Given the description of an element on the screen output the (x, y) to click on. 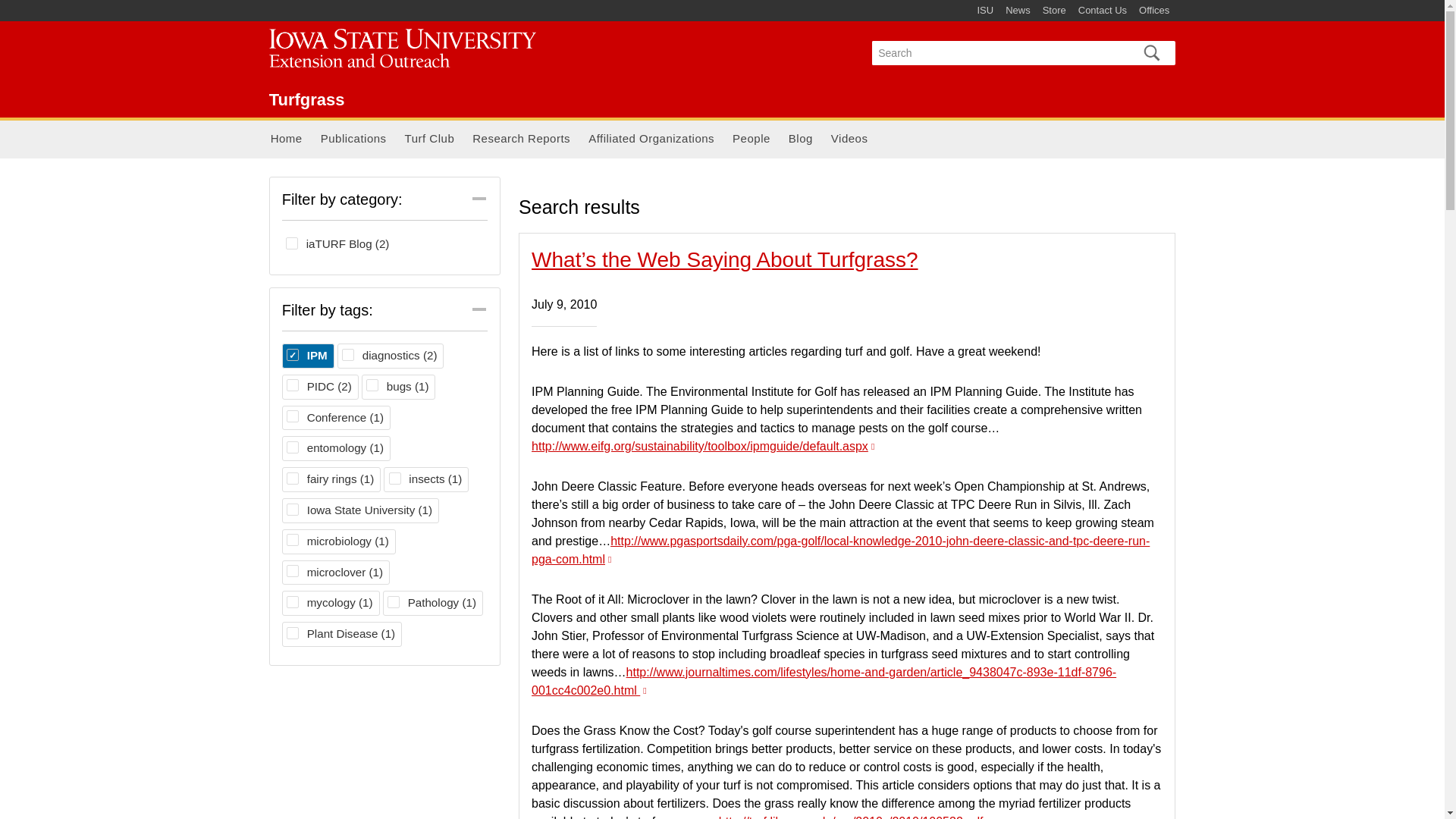
Publications (353, 139)
News (1017, 10)
Blog (800, 139)
Enter the terms you wish to search for. (998, 52)
Research Reports (521, 139)
Affiliated Organizations (651, 139)
People (750, 139)
ISU (984, 10)
Store (1053, 10)
Videos (849, 139)
Contact Us (308, 355)
Turfgrass (1101, 10)
Turf Club (307, 99)
